Given the description of an element on the screen output the (x, y) to click on. 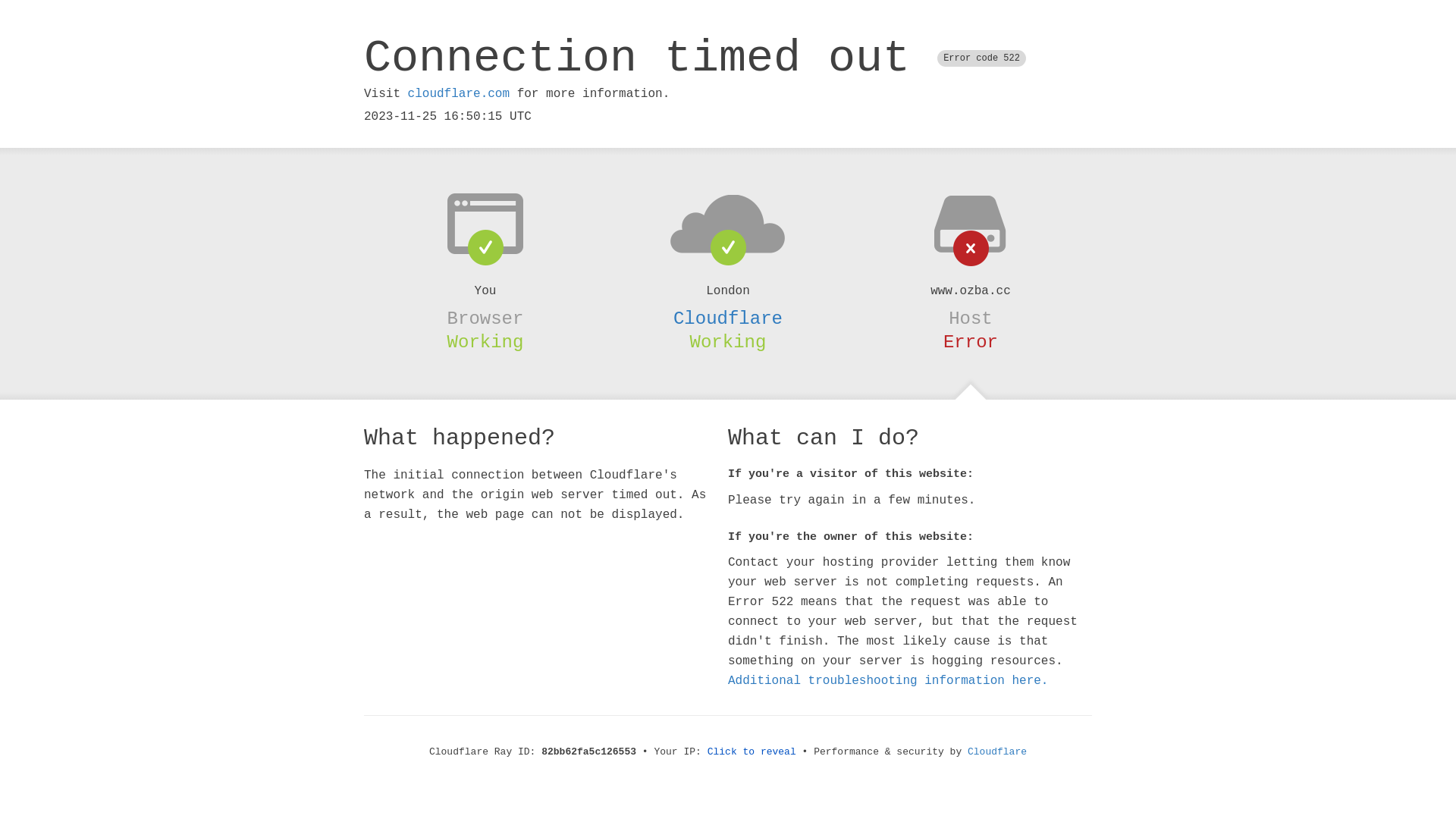
Click to reveal Element type: text (751, 751)
Cloudflare Element type: text (996, 751)
Additional troubleshooting information here. Element type: text (888, 680)
Cloudflare Element type: text (727, 318)
cloudflare.com Element type: text (458, 93)
